Given the description of an element on the screen output the (x, y) to click on. 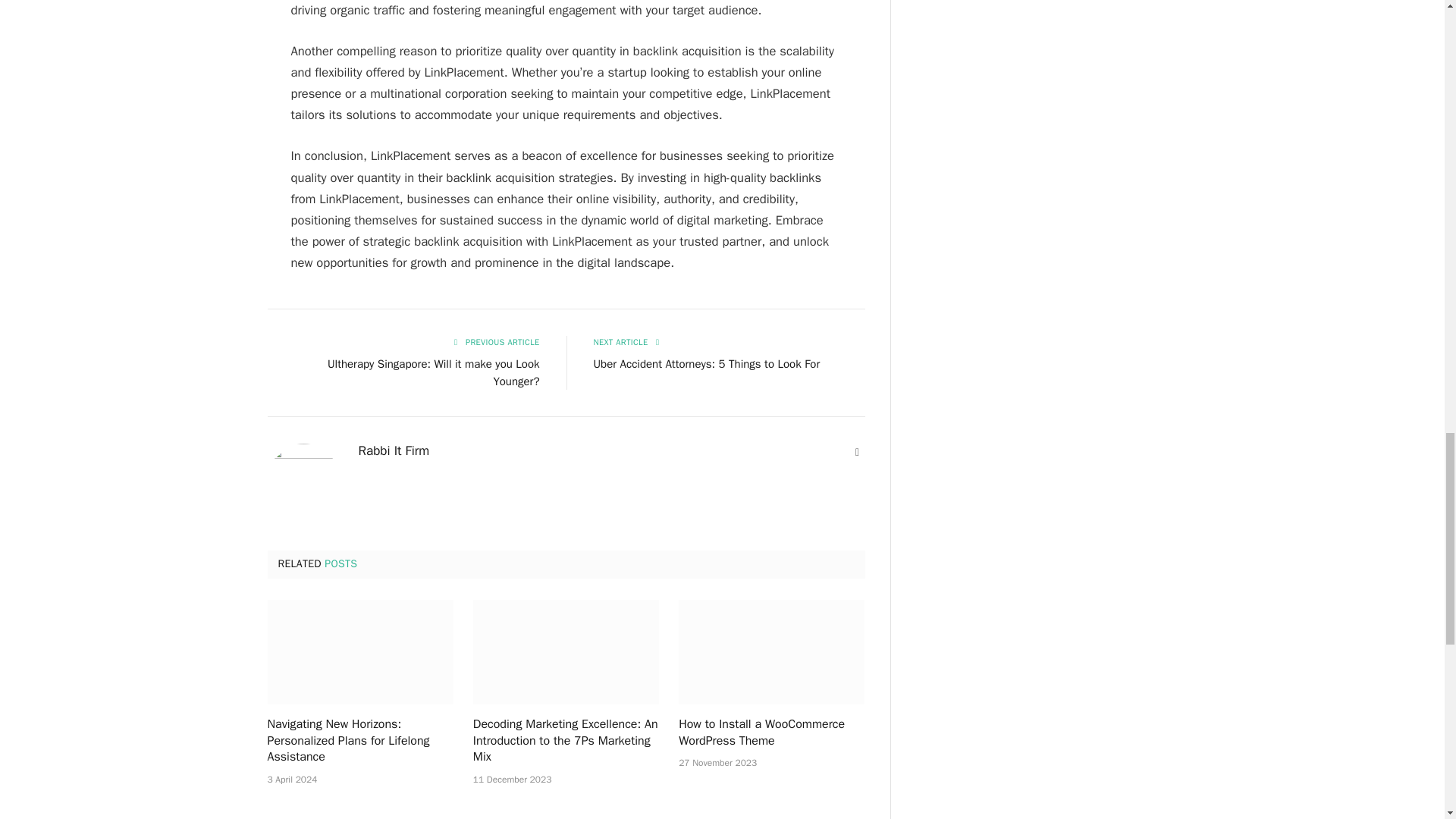
Website (856, 452)
Uber Accident Attorneys: 5 Things to Look For (705, 364)
Website (856, 452)
Ultherapy Singapore: Will it make you Look Younger? (433, 372)
How to Install a WooCommerce WordPress Theme (771, 733)
Posts by Rabbi It Firm (393, 450)
